Given the description of an element on the screen output the (x, y) to click on. 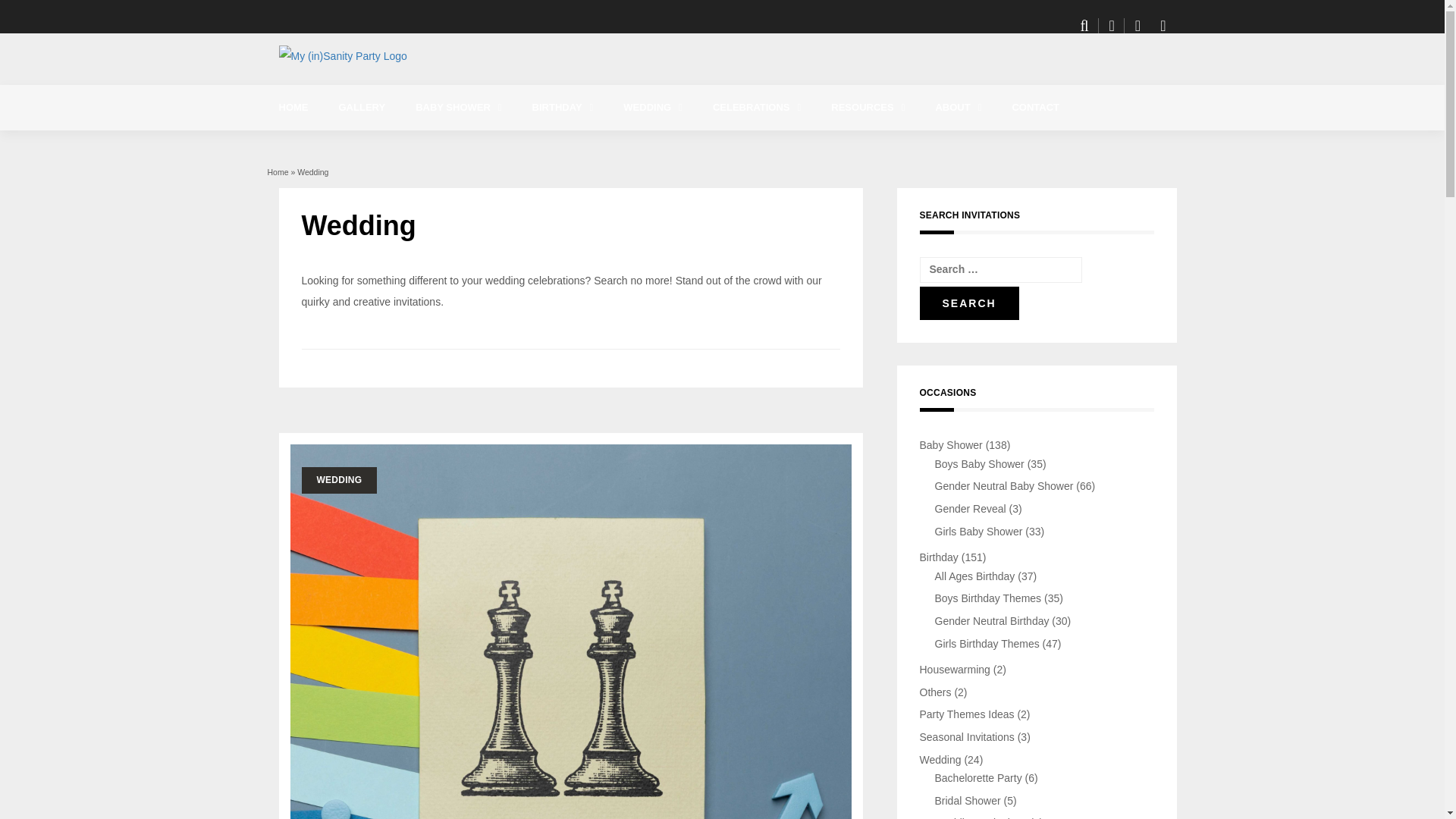
ABOUT (957, 107)
About us (1022, 145)
Bachelorette Party (710, 145)
Baby Girl (502, 145)
Housewarming (799, 145)
Girls (619, 145)
BIRTHDAY (562, 107)
Birthday (562, 107)
WEDDING (652, 107)
Search (967, 303)
